Given the description of an element on the screen output the (x, y) to click on. 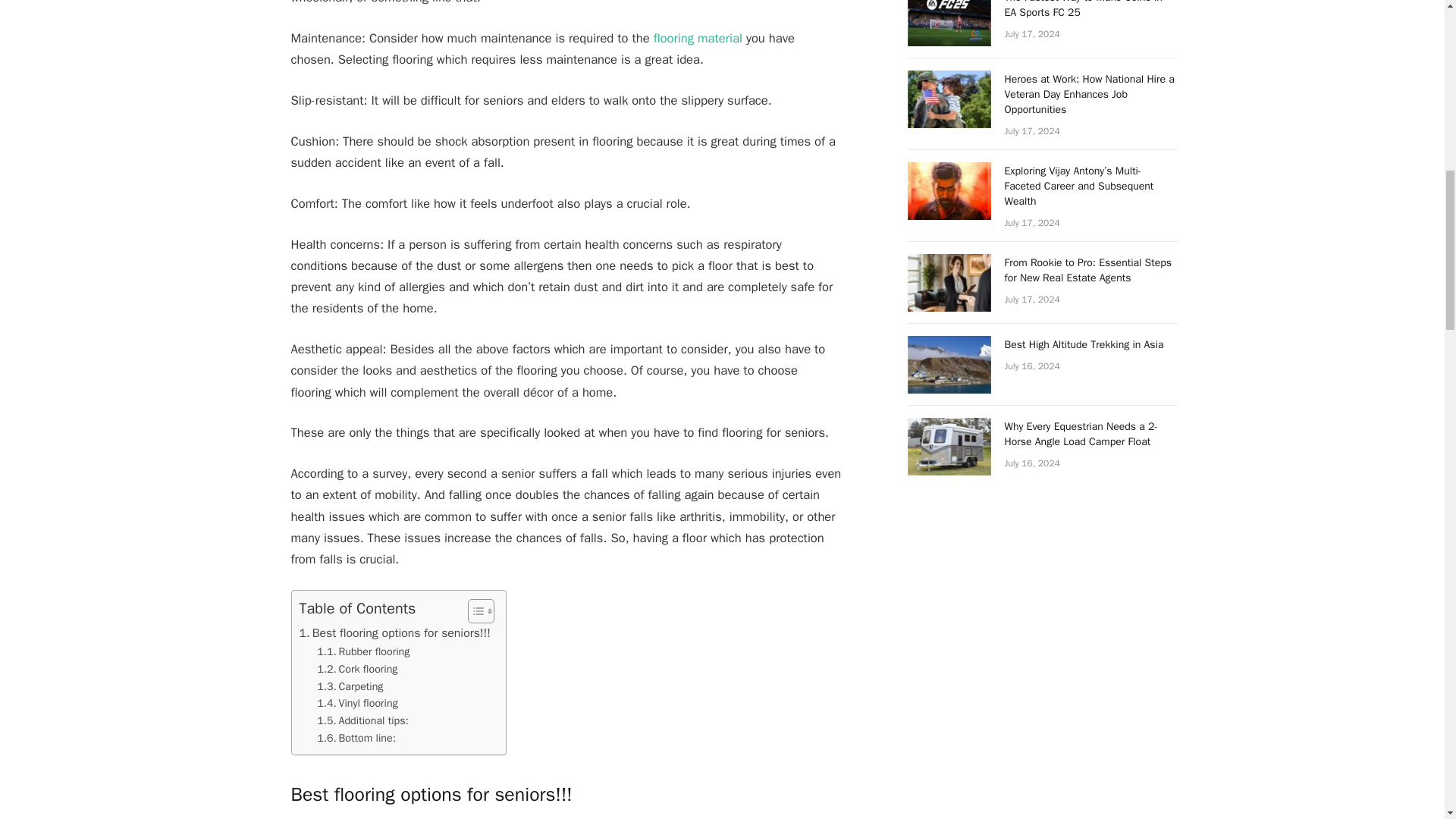
Rubber flooring  (364, 651)
Best flooring options for seniors!!! (394, 633)
flooring material (697, 37)
Carpeting  (352, 686)
Cork flooring  (359, 669)
